Given the description of an element on the screen output the (x, y) to click on. 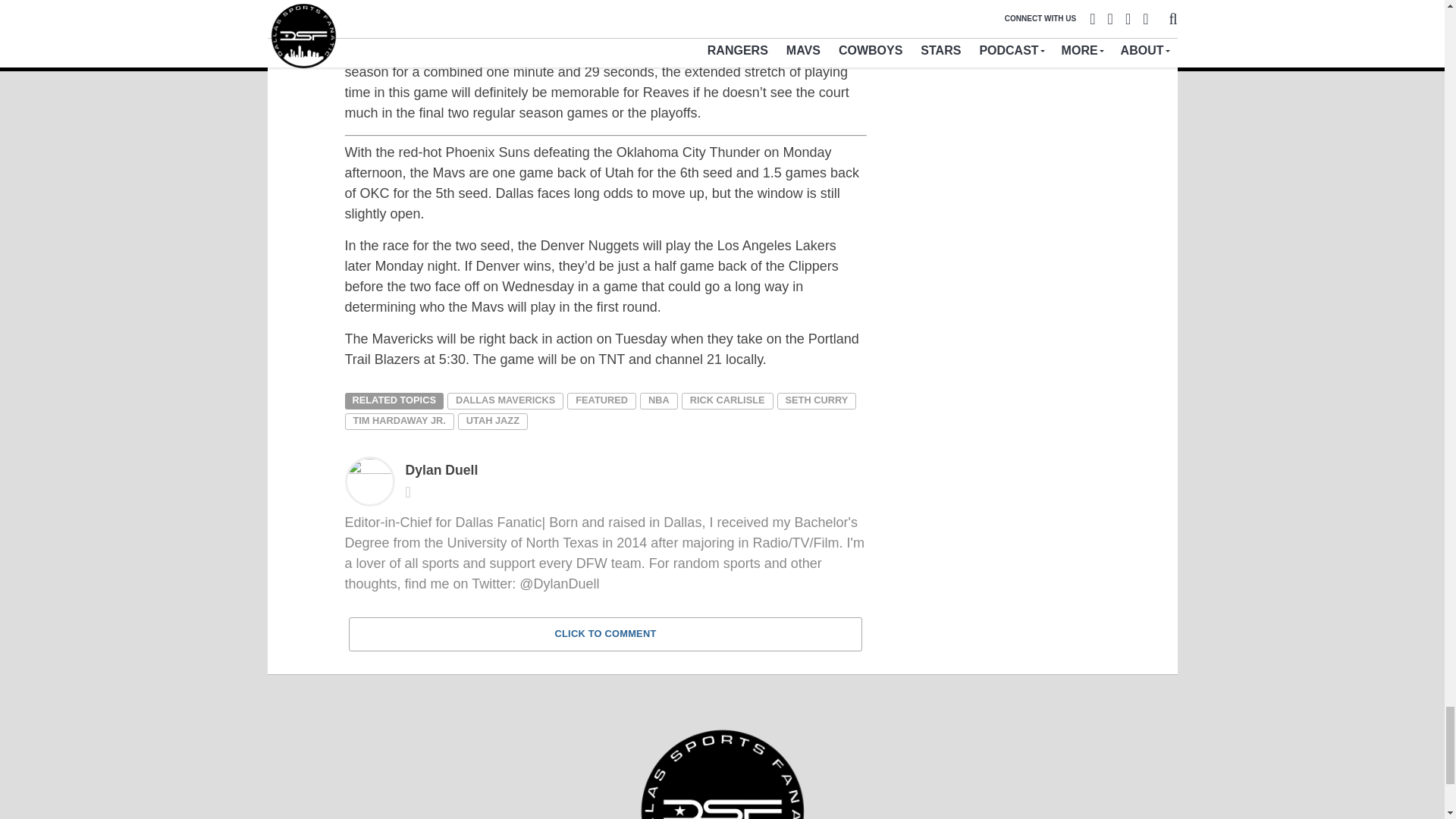
Posts by Dylan Duell (440, 469)
